Given the description of an element on the screen output the (x, y) to click on. 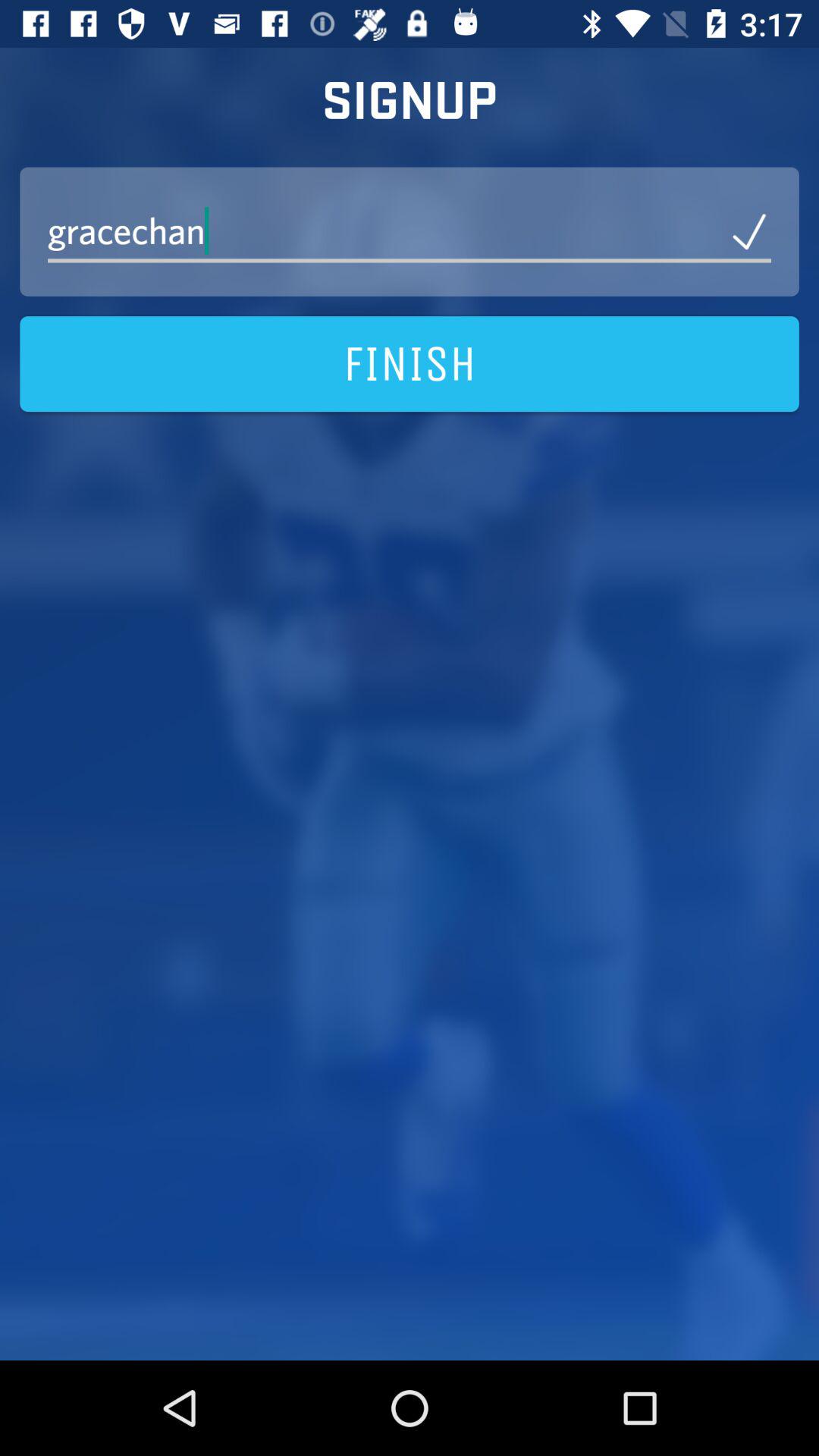
select the gracechan icon (409, 231)
